Given the description of an element on the screen output the (x, y) to click on. 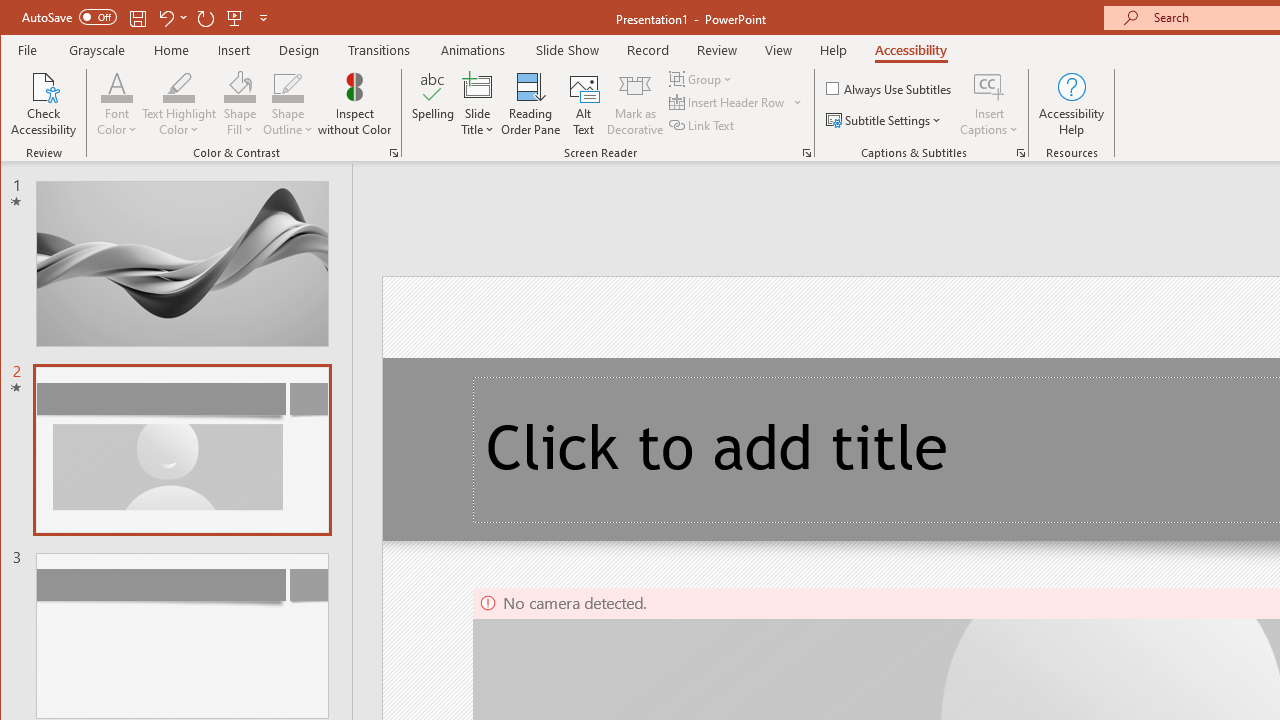
Shape Fill Orange, Accent 2 (239, 86)
Screen Reader (806, 152)
Shape Outline Blue, Accent 1 (288, 86)
Inspect without Color (355, 104)
